Given the description of an element on the screen output the (x, y) to click on. 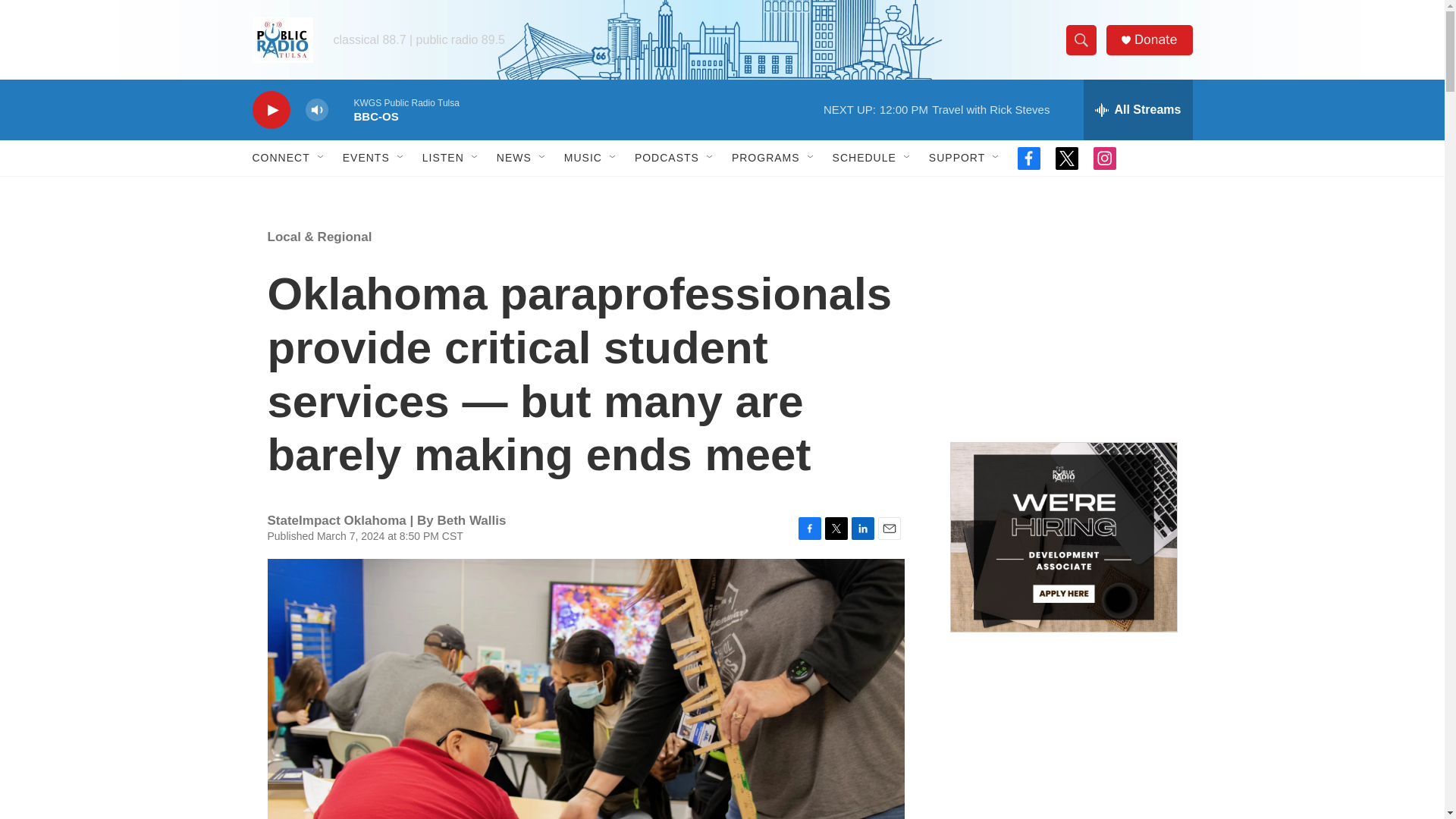
3rd party ad content (1062, 740)
3rd party ad content (1062, 316)
